Given the description of an element on the screen output the (x, y) to click on. 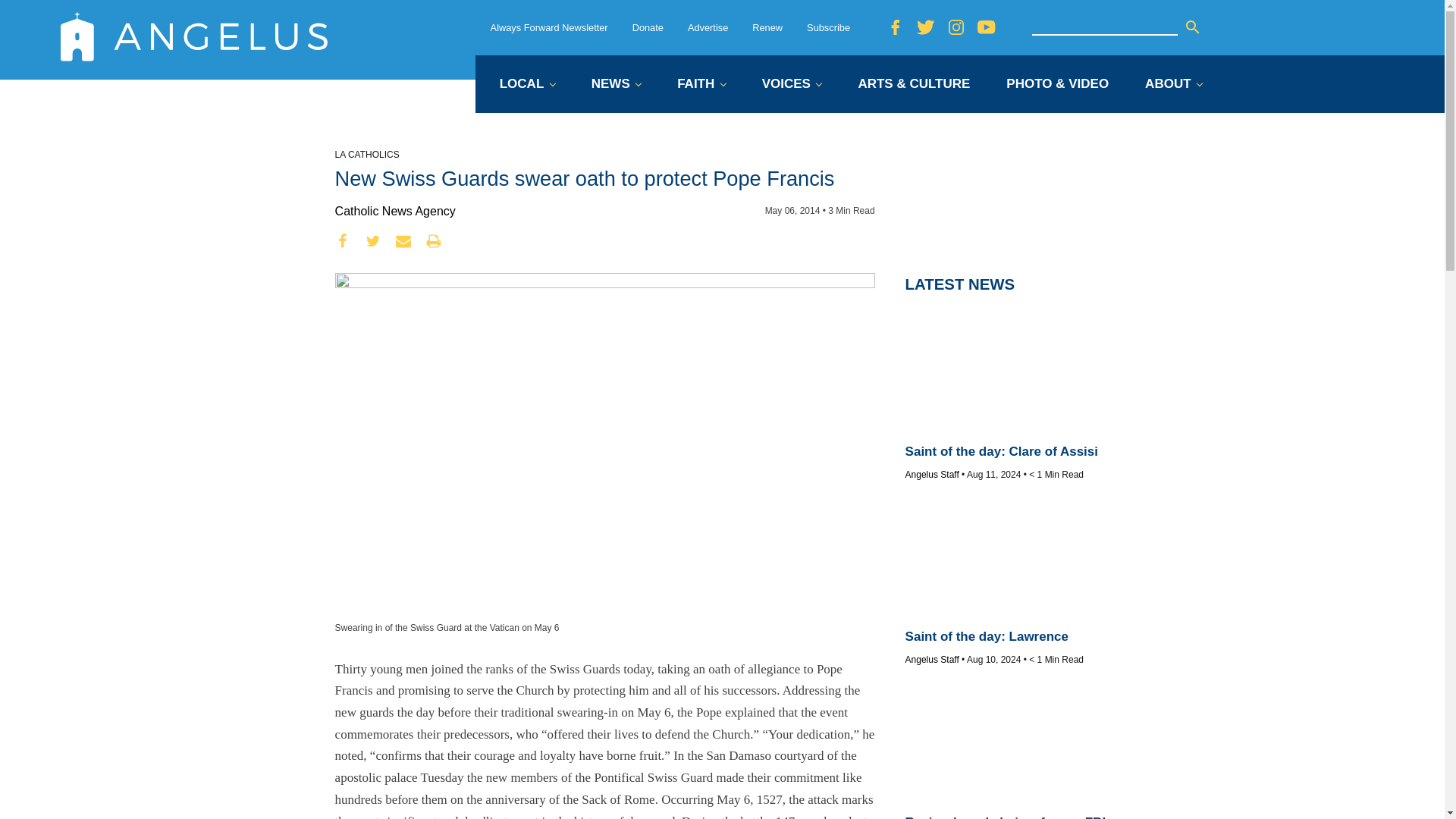
Posts by Angelus Staff (932, 474)
Always Forward Newsletter (549, 27)
NEWS (615, 84)
Donate (647, 27)
VOICES (791, 84)
Renew (767, 27)
FAITH (701, 84)
Posts by Angelus Staff (932, 659)
Search (1192, 27)
envelope (403, 240)
